Given the description of an element on the screen output the (x, y) to click on. 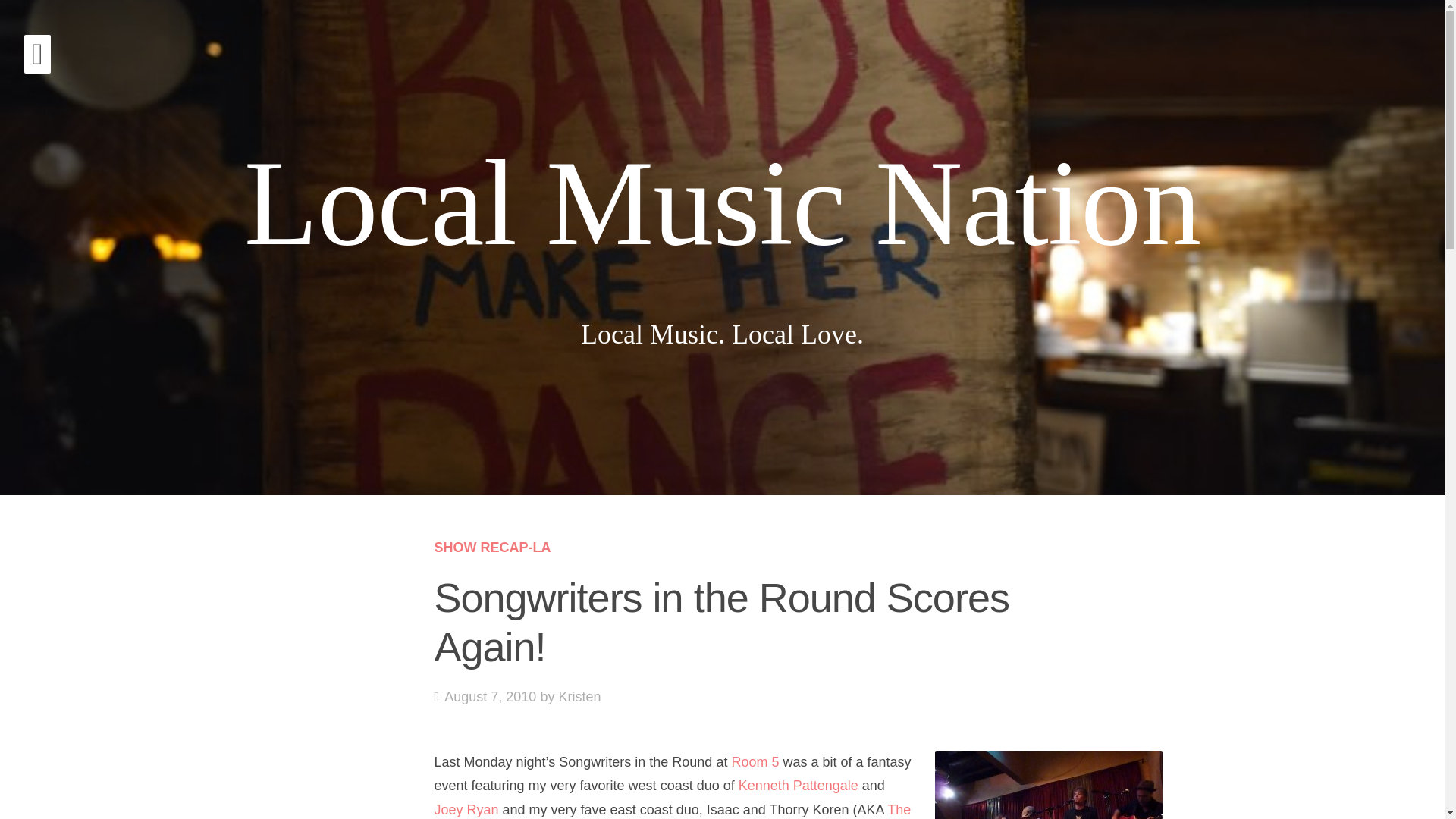
Room 5 (754, 761)
Joey Ryan (465, 809)
Songwriters in the Round (1047, 785)
Kenneth Pattengale (798, 785)
Local Music Nation (722, 203)
Kristen (484, 696)
The Kin (578, 696)
SHOW RECAP-LA (672, 810)
